Given the description of an element on the screen output the (x, y) to click on. 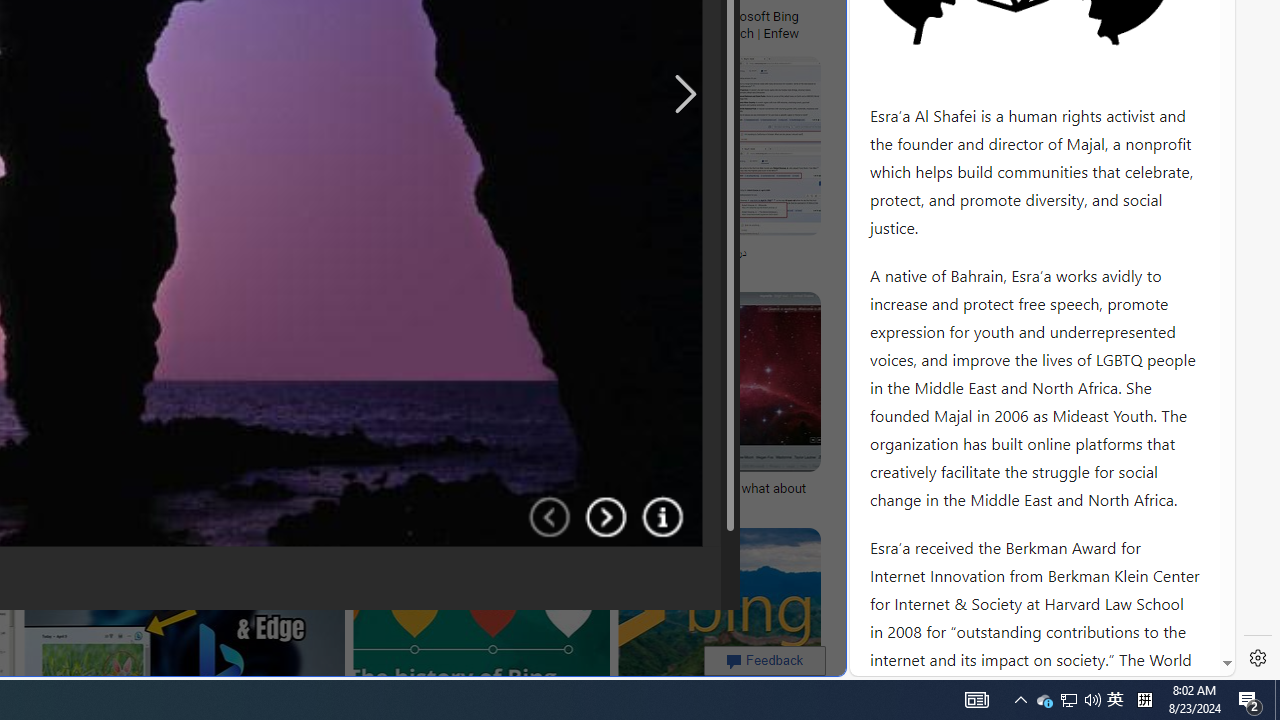
microsoft bing (555, 16)
Bing (2009) (RARE/FAKE) - YouTube (345, 253)
microsoft bing (463, 16)
